Given the description of an element on the screen output the (x, y) to click on. 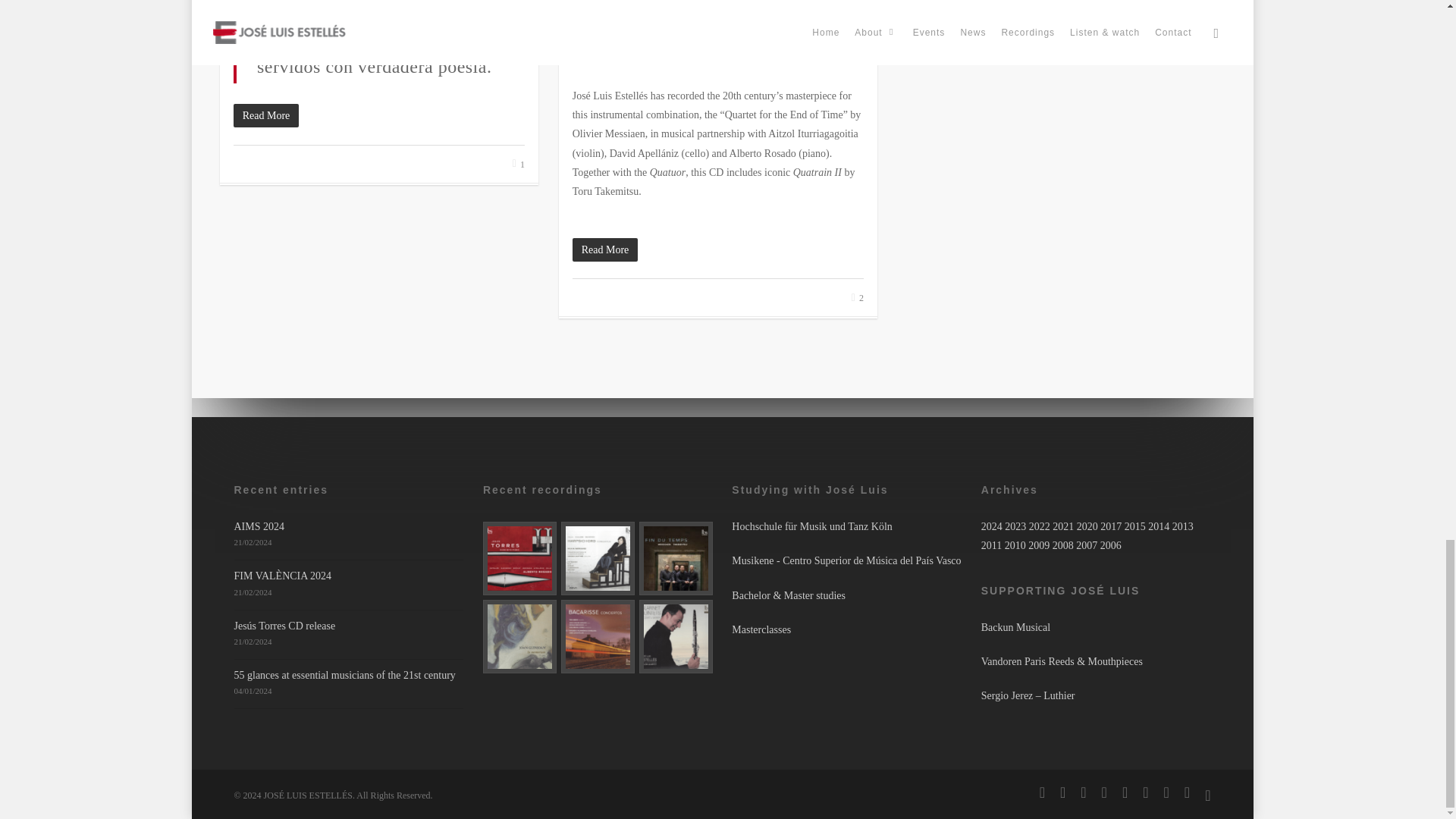
Love this (857, 297)
Love this (518, 164)
